Given the description of an element on the screen output the (x, y) to click on. 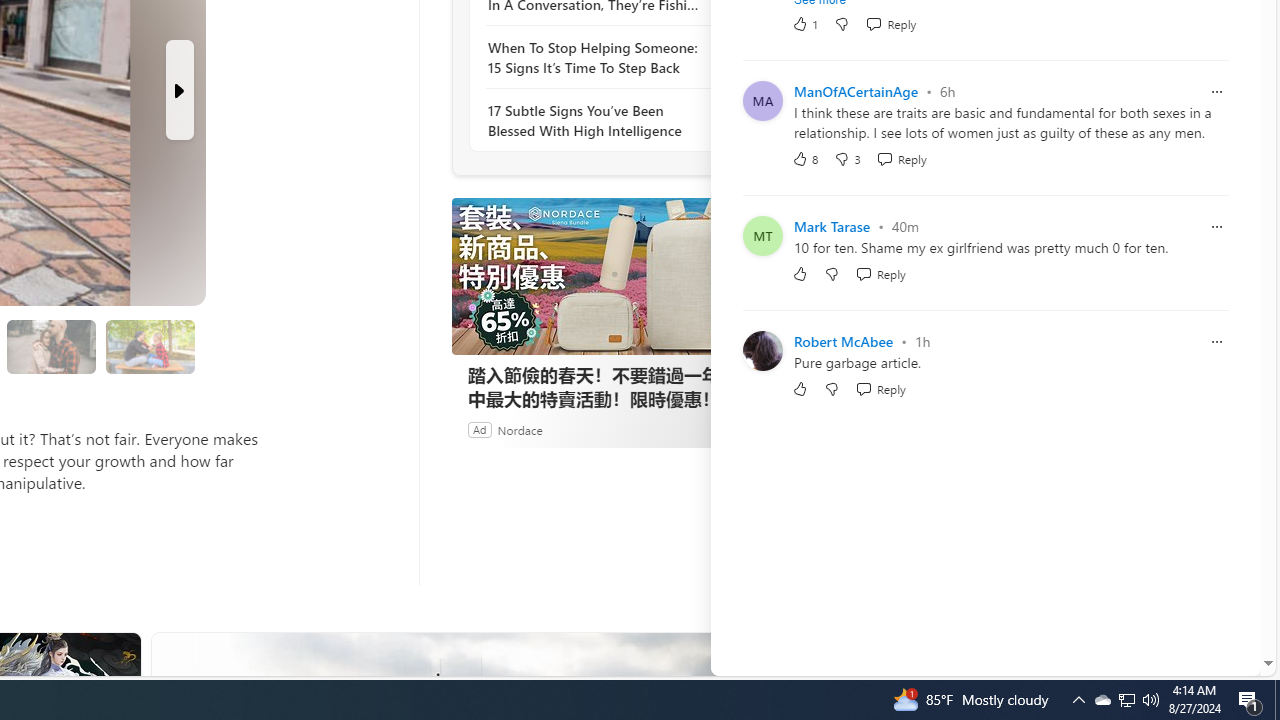
8 Like (804, 158)
Profile Picture (762, 349)
Reply Reply Comment (880, 388)
See more (741, 656)
Nordace (519, 429)
Next Slide (179, 89)
Robert McAbee (843, 341)
Report comment (1216, 340)
Feedback (1185, 659)
Ad Choice (729, 429)
